Given the description of an element on the screen output the (x, y) to click on. 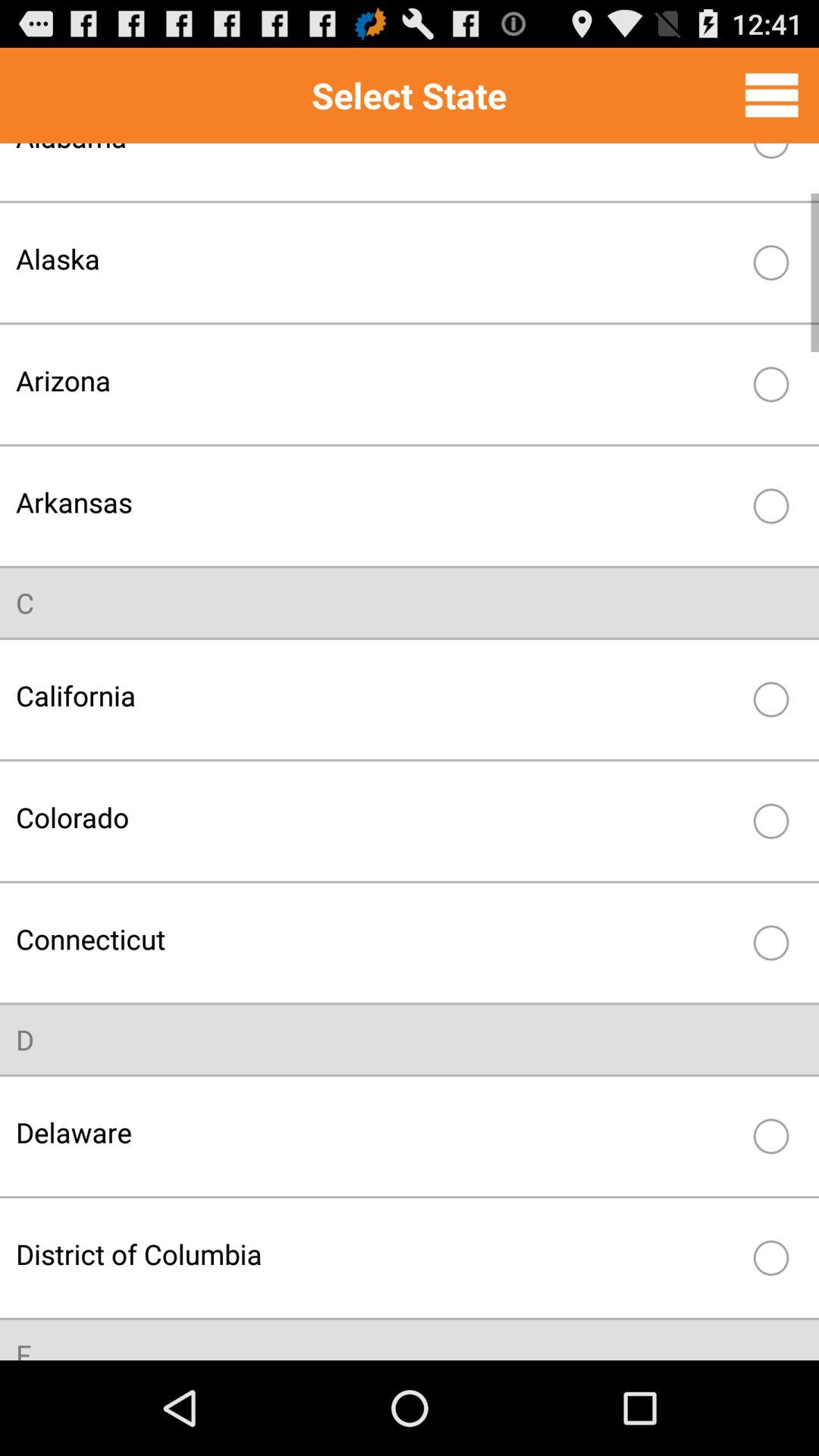
flip until the d (24, 1039)
